Given the description of an element on the screen output the (x, y) to click on. 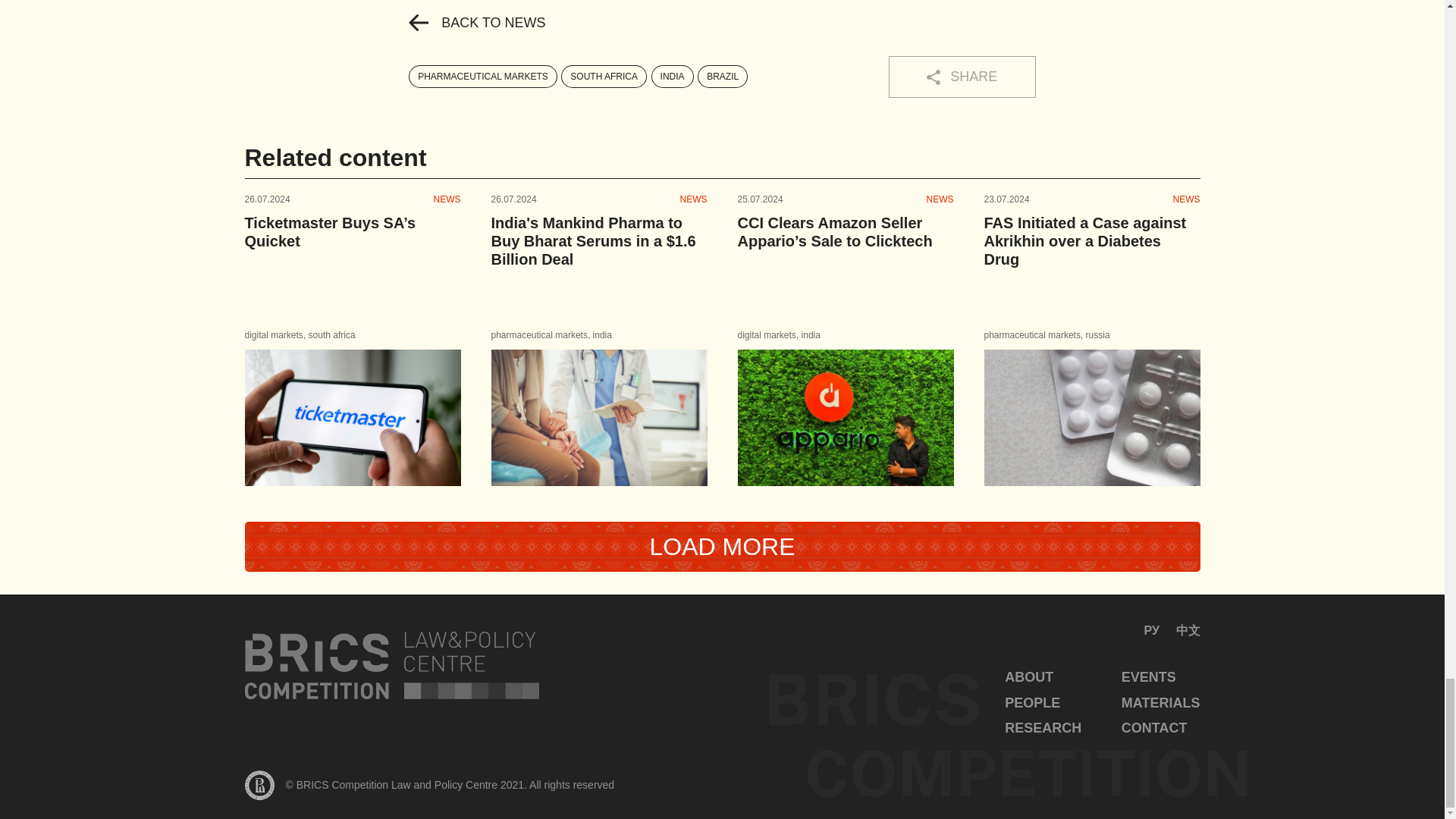
BACK TO NEWS (476, 22)
BRICS (391, 665)
digital markets (273, 335)
south africa (331, 335)
INDIA (672, 76)
NEWS (447, 199)
BRAZIL (722, 76)
PHARMACEUTICAL MARKETS (483, 76)
SHARE (961, 76)
SOUTH AFRICA (603, 76)
